Given the description of an element on the screen output the (x, y) to click on. 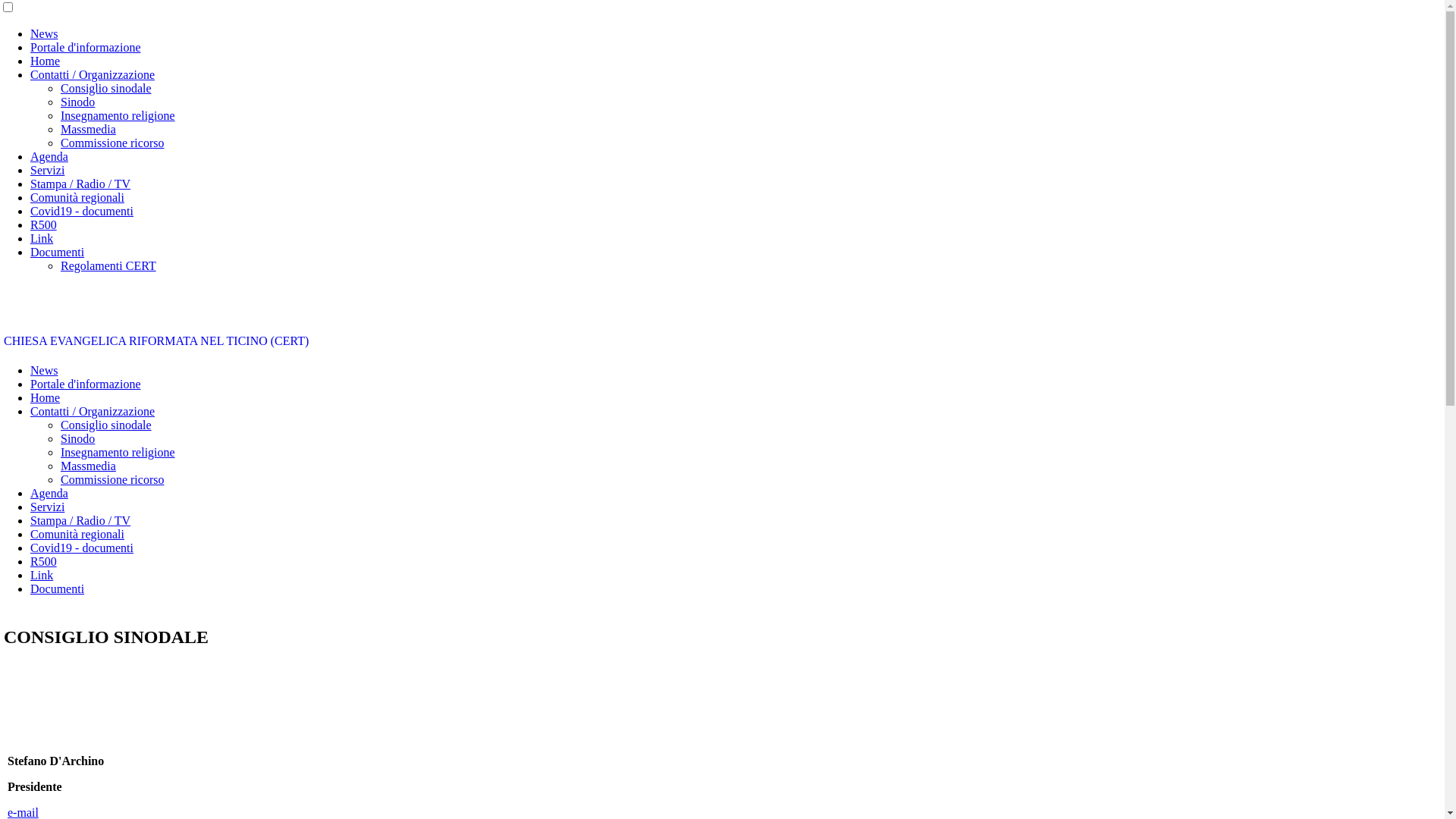
Agenda Element type: text (49, 156)
Insegnamento religione Element type: text (117, 115)
Contatti / Organizzazione Element type: text (92, 74)
Sinodo Element type: text (77, 438)
R500 Element type: text (43, 561)
Commissione ricorso Element type: text (111, 479)
Servizi Element type: text (47, 169)
Agenda Element type: text (49, 492)
Servizi Element type: text (47, 506)
Documenti Element type: text (57, 588)
Home Element type: text (44, 397)
Portale d'informazione Element type: text (85, 46)
News Element type: text (43, 33)
Consiglio sinodale Element type: text (105, 424)
Regolamenti CERT Element type: text (108, 265)
Sinodo Element type: text (77, 101)
Massmedia Element type: text (88, 128)
Link Element type: text (41, 574)
Contatti / Organizzazione Element type: text (92, 410)
Insegnamento religione Element type: text (117, 451)
Home Element type: text (44, 60)
News Element type: text (43, 370)
CHIESA EVANGELICA RIFORMATA NEL TICINO (CERT) Element type: text (155, 340)
R500 Element type: text (43, 224)
Link Element type: text (41, 238)
Portale d'informazione Element type: text (85, 383)
Documenti Element type: text (57, 251)
Stampa / Radio / TV Element type: text (80, 183)
Stampa / Radio / TV Element type: text (80, 520)
Covid19 - documenti Element type: text (81, 210)
Consiglio sinodale Element type: text (105, 87)
Massmedia Element type: text (88, 465)
Covid19 - documenti Element type: text (81, 547)
Commissione ricorso Element type: text (111, 142)
